Given the description of an element on the screen output the (x, y) to click on. 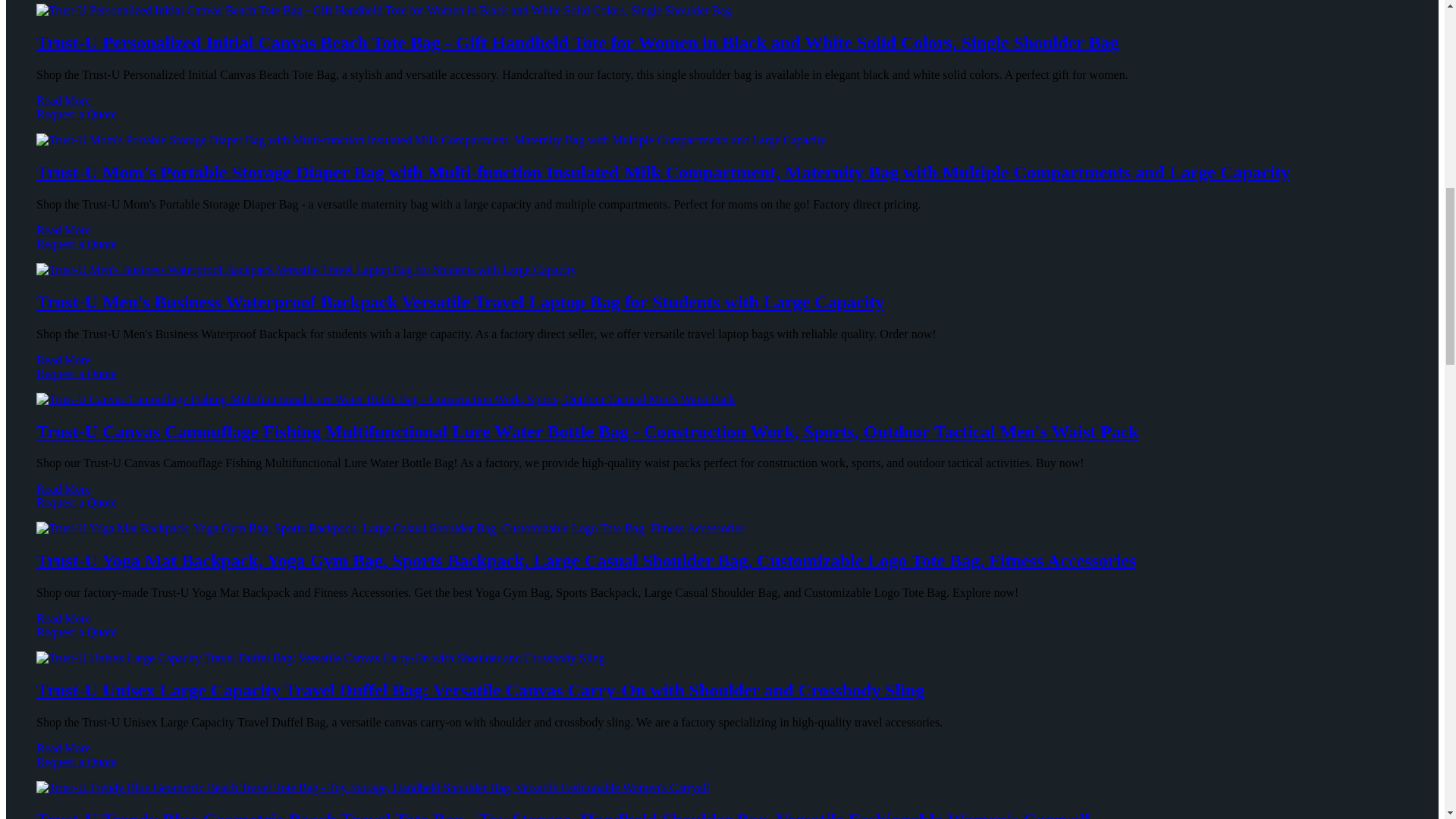
Read More (63, 229)
Request a Quote (721, 121)
Read More (63, 359)
Request a Quote (721, 379)
Request a Quote (721, 250)
Read More (63, 100)
